Given the description of an element on the screen output the (x, y) to click on. 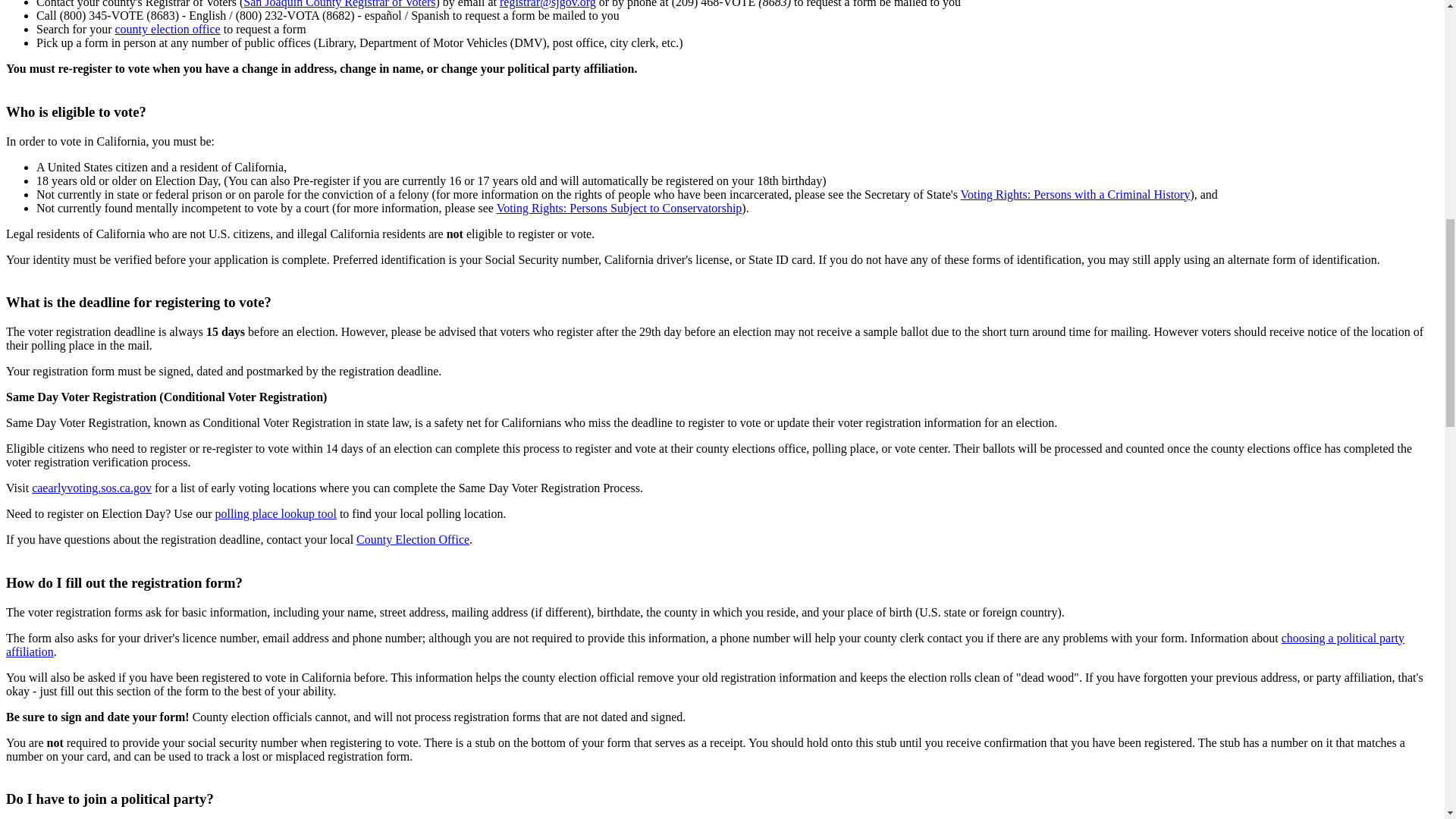
Voting Rights: Persons Subject to Conservatorship (619, 207)
